Given the description of an element on the screen output the (x, y) to click on. 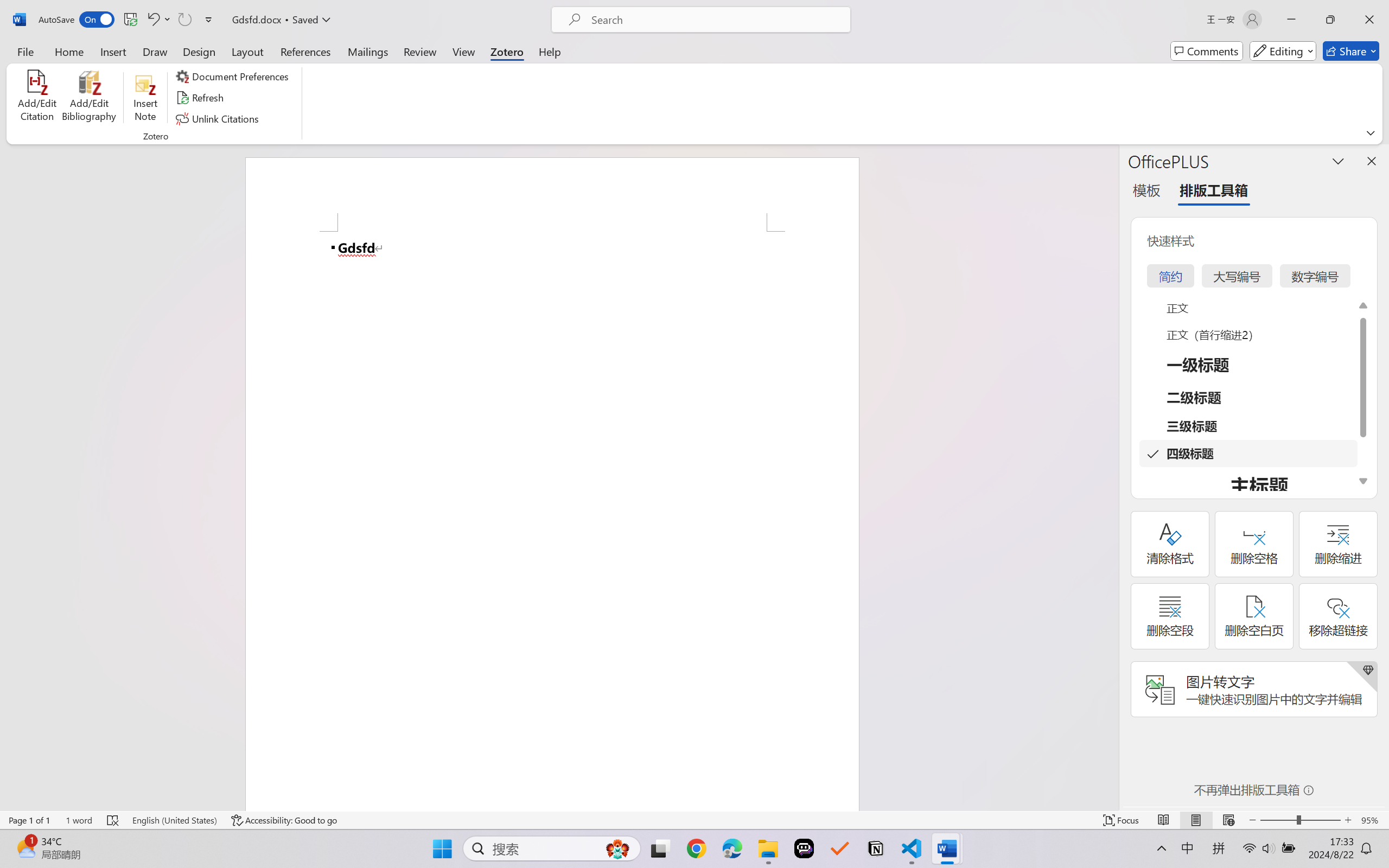
Zoom 95% (1372, 819)
